Given the description of an element on the screen output the (x, y) to click on. 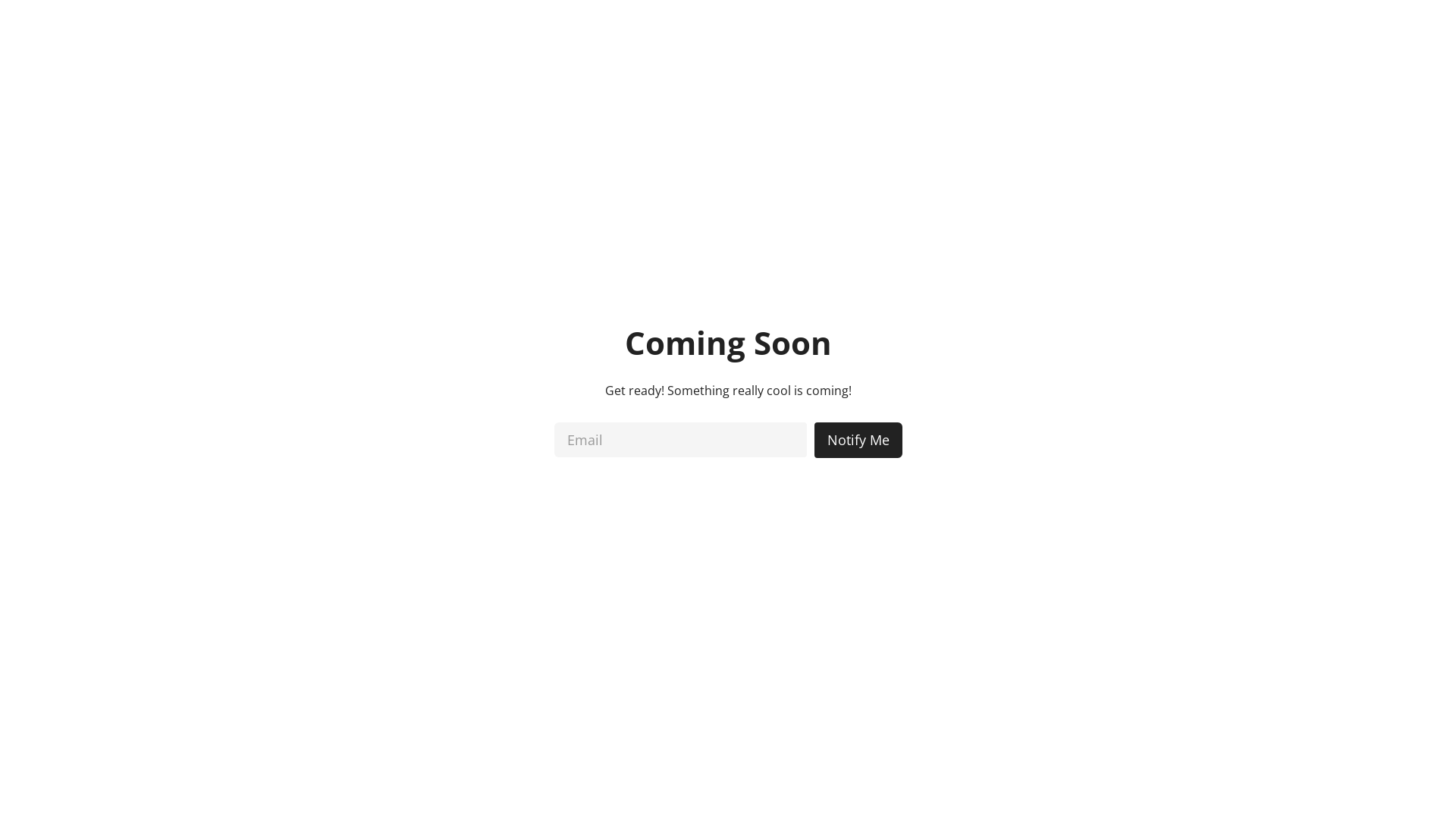
Notify Me Element type: text (858, 439)
